Given the description of an element on the screen output the (x, y) to click on. 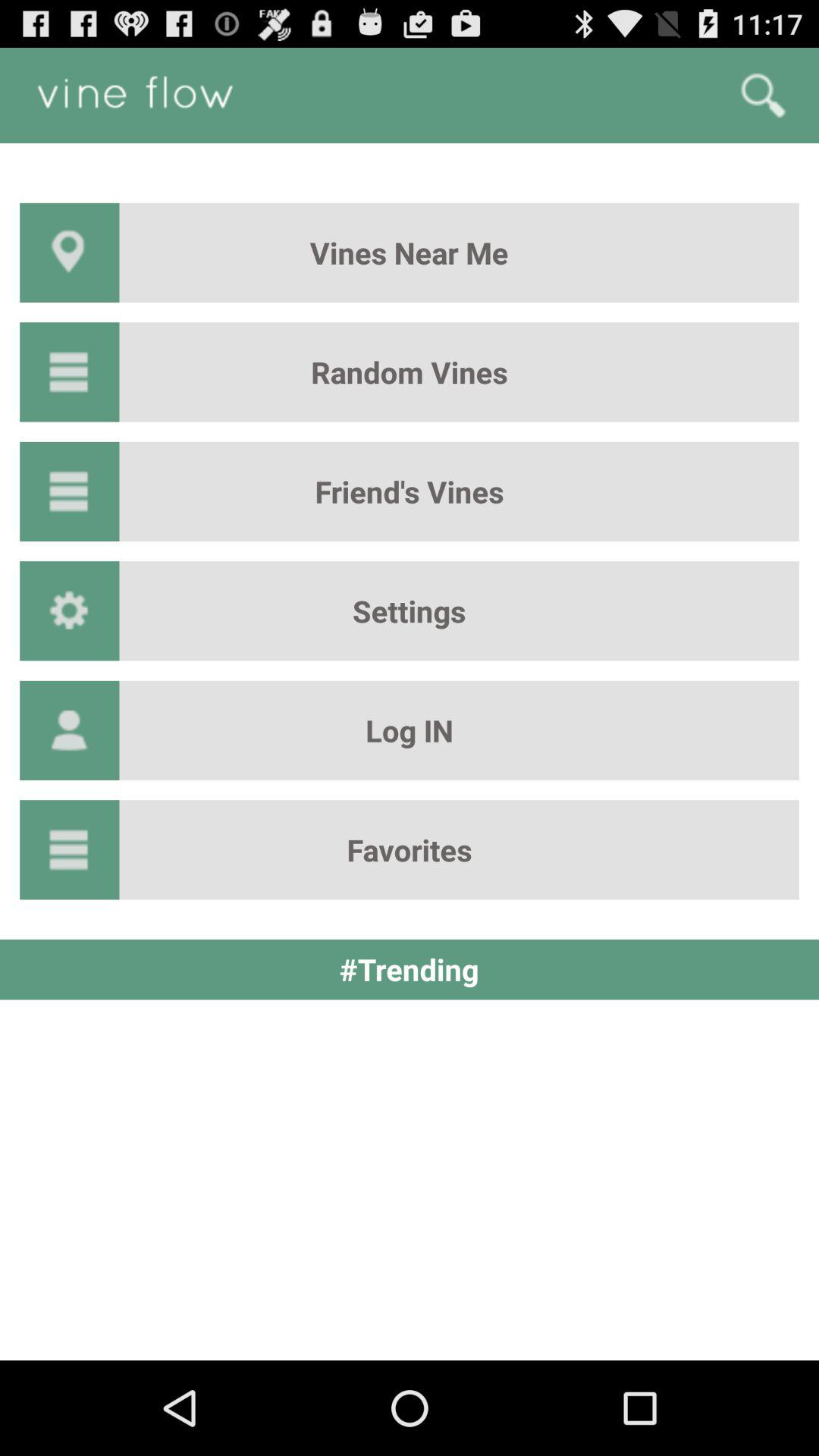
launch the item at the top right corner (763, 95)
